Given the description of an element on the screen output the (x, y) to click on. 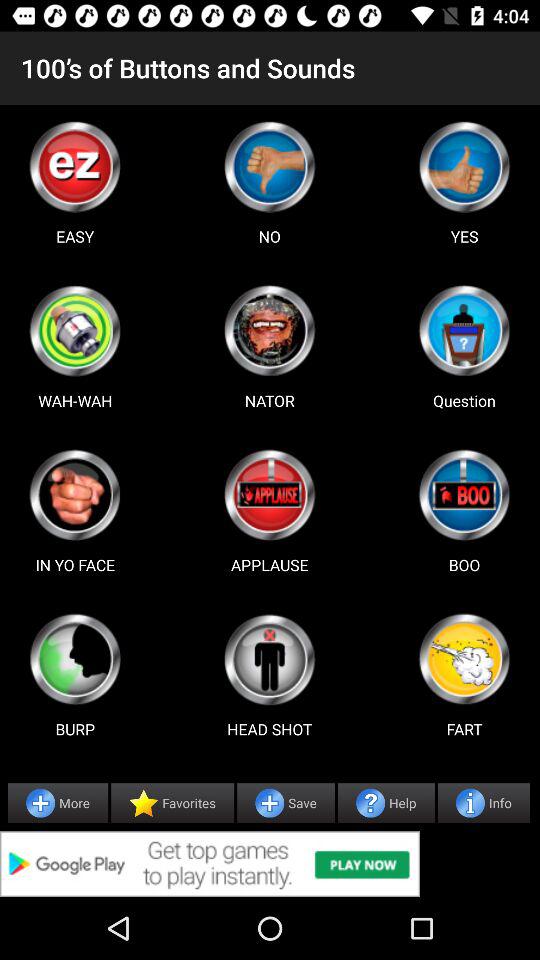
advertisement page (269, 166)
